Given the description of an element on the screen output the (x, y) to click on. 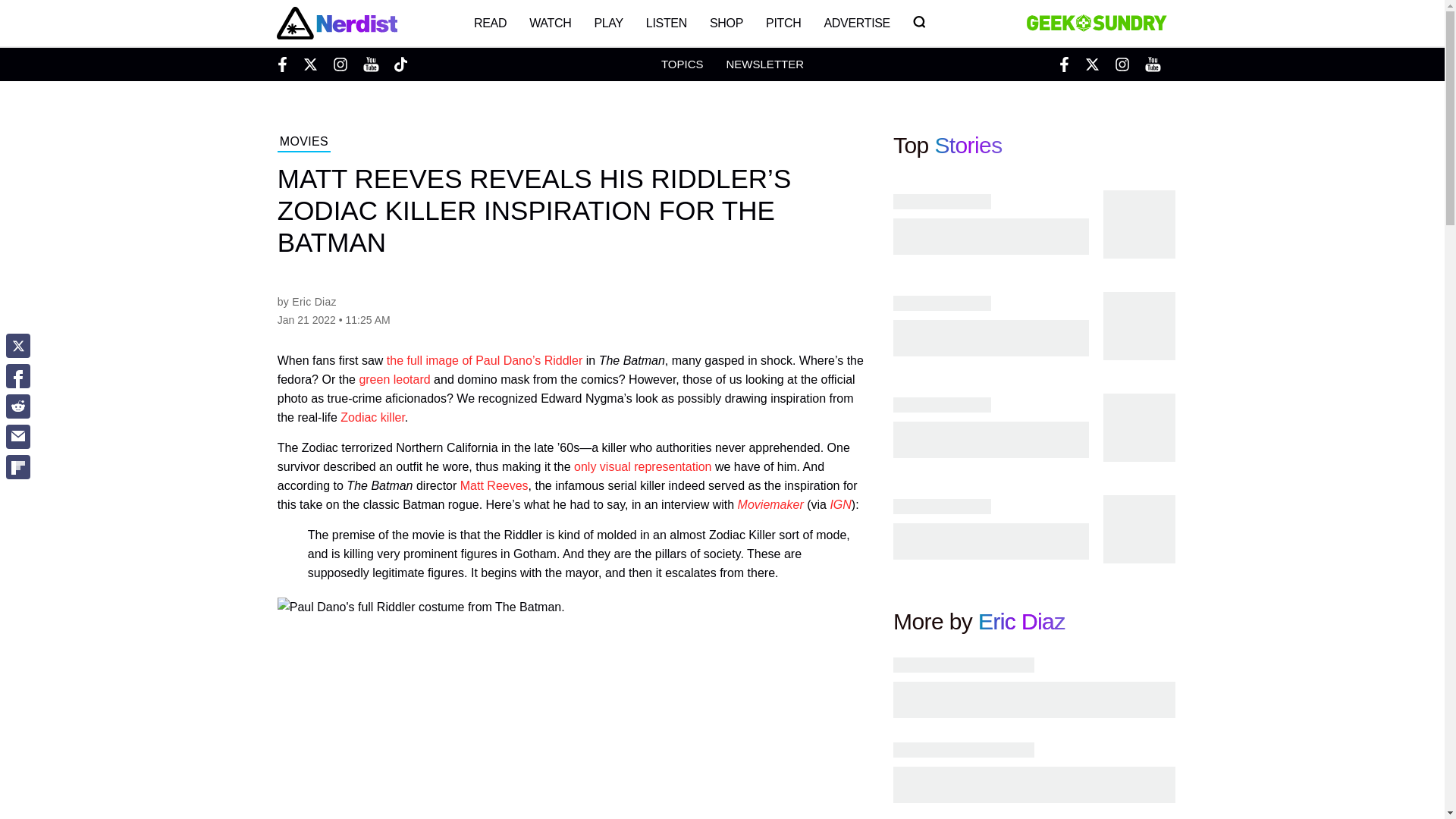
SHOP (726, 22)
WATCH (550, 22)
Eric Diaz (1021, 621)
Twitter Geek and Sundry (1091, 63)
NEWSLETTER (764, 63)
Instagram Nerdist (339, 63)
ADVERTISE (856, 22)
only visual representation (642, 466)
PLAY (607, 22)
MOVIES (304, 143)
PITCH (783, 22)
SHOP (726, 22)
PITCH (783, 22)
READ (490, 22)
IGN (839, 504)
